Given the description of an element on the screen output the (x, y) to click on. 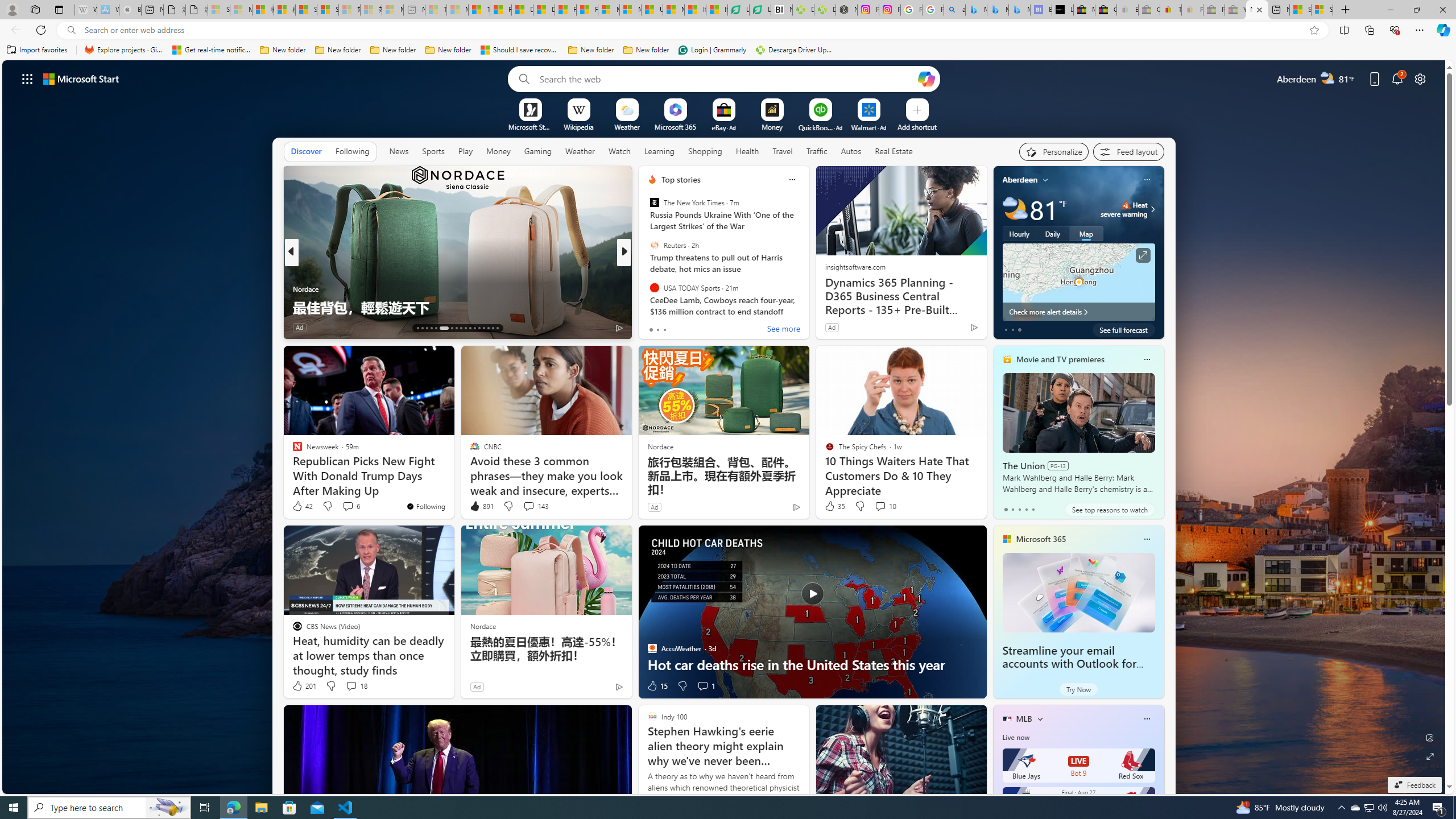
View comments 66 Comment (703, 327)
View comments 460 Comment (703, 327)
AutomationID: tab-20 (456, 328)
Marine life - MSN - Sleeping (457, 9)
More interests (1039, 718)
